Given the description of an element on the screen output the (x, y) to click on. 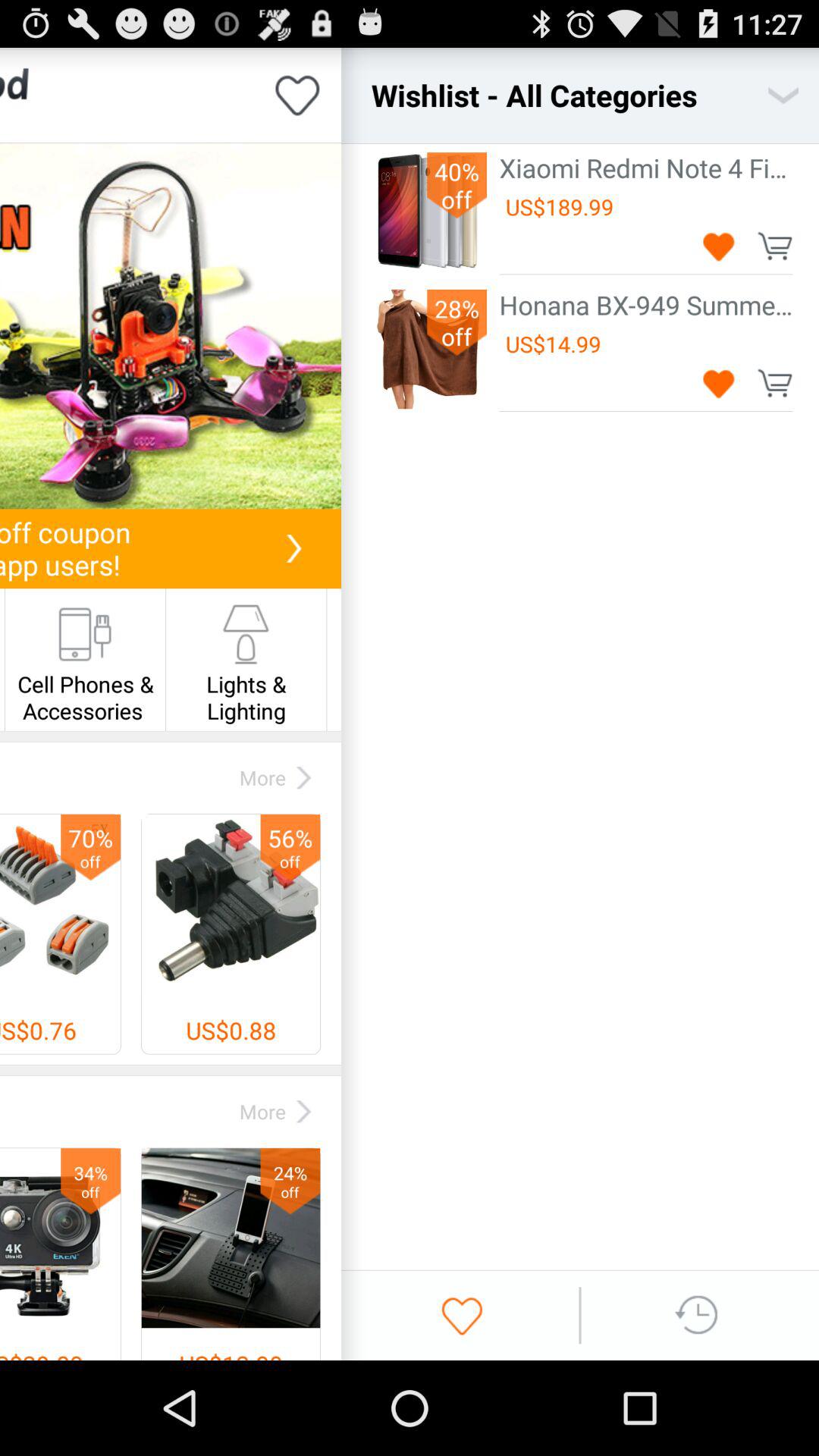
like item (297, 95)
